Given the description of an element on the screen output the (x, y) to click on. 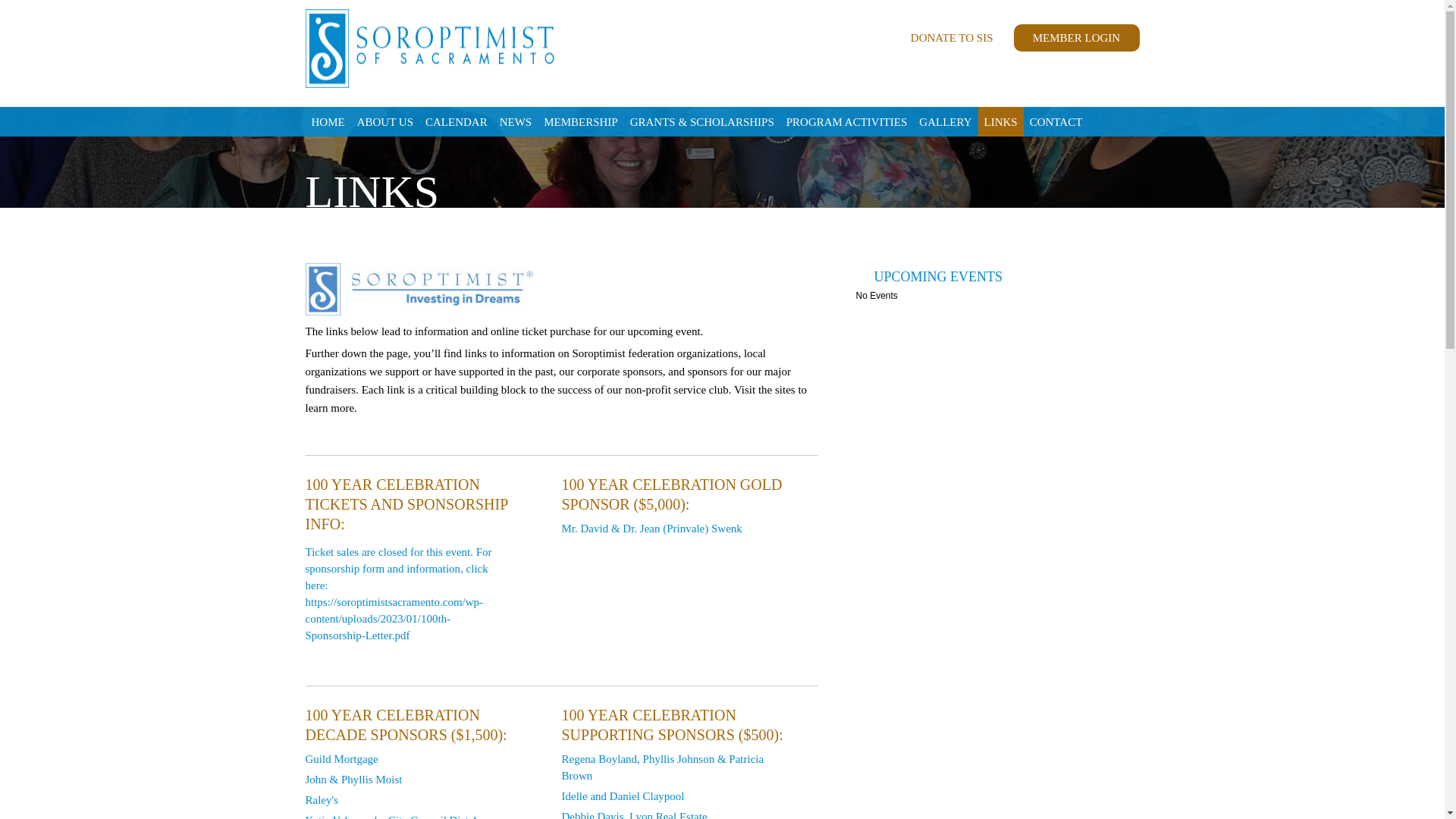
HOME (327, 121)
CALENDAR (456, 121)
MEMBERSHIP (580, 121)
ABOUT US (384, 121)
MEMBER LOGIN (1075, 37)
DONATE TO SIS (951, 37)
NEWS (515, 121)
